Given the description of an element on the screen output the (x, y) to click on. 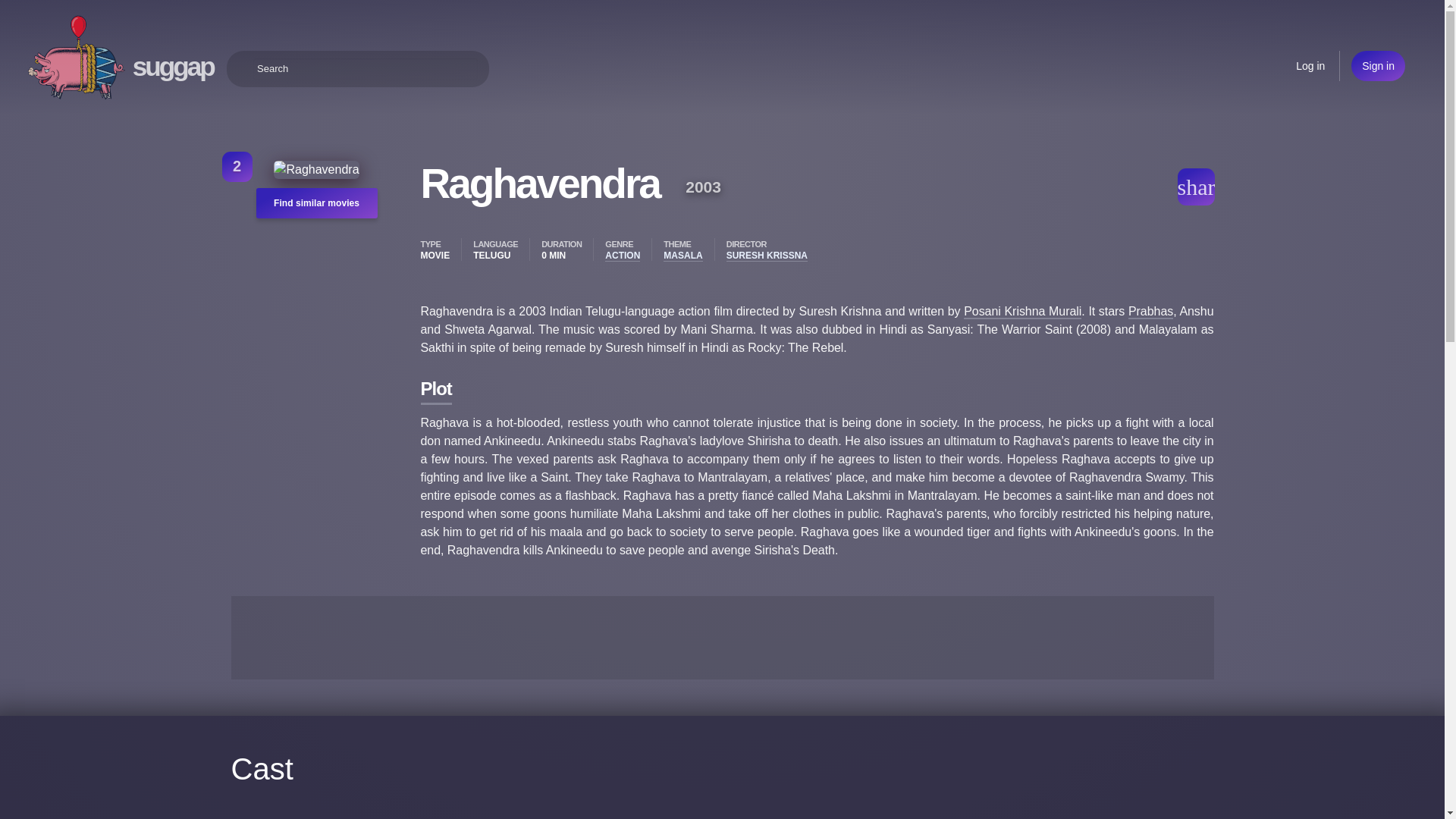
Find similar movies (282, 205)
Log in (1309, 65)
Suresh Krissna (521, 432)
masala (499, 396)
Share (1203, 183)
Sign in (1378, 65)
Posani Krishna Murali (1083, 451)
action (496, 359)
Oink, oink... (76, 57)
Prabhas (502, 469)
share (1203, 183)
Score (346, 188)
suggap (173, 66)
